Given the description of an element on the screen output the (x, y) to click on. 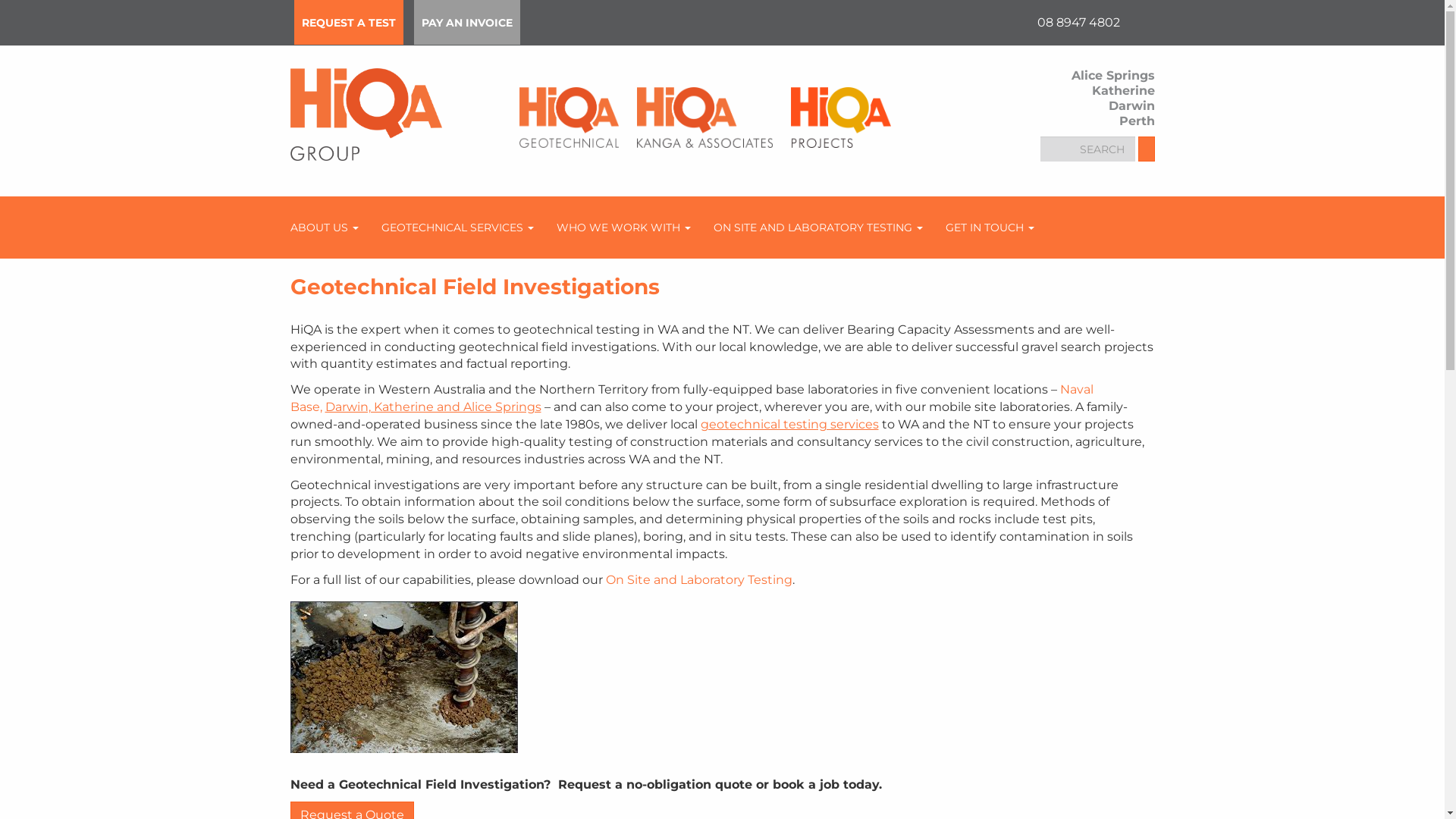
REQUEST A TEST Element type: text (348, 22)
Naval Base, Element type: text (690, 398)
GEOTECHNICAL SERVICES Element type: text (457, 227)
ABOUT US Element type: text (324, 227)
Darwin, Katherine and Alice Springs Element type: text (432, 406)
 08 8947 4802 Element type: text (1077, 22)
GET IN TOUCH Element type: text (989, 227)
On Site and Laboratory Testing Element type: text (698, 579)
PAY AN INVOICE Element type: text (467, 22)
ON SITE AND LABORATORY TESTING Element type: text (818, 227)
geotechnical testing services Element type: text (789, 424)
WHO WE WORK WITH Element type: text (622, 227)
